Given the description of an element on the screen output the (x, y) to click on. 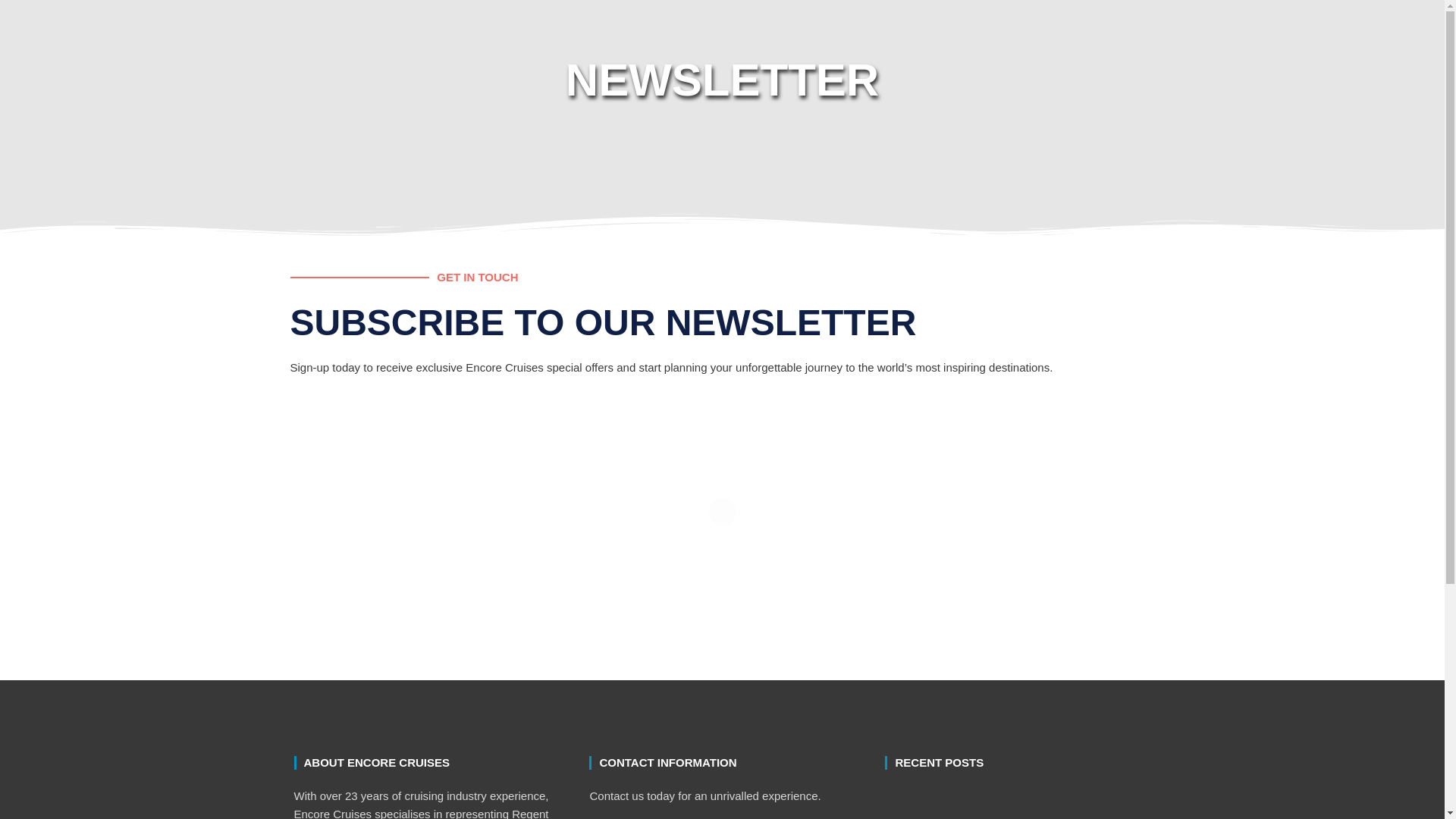
NEWSLETTER (722, 79)
